Given the description of an element on the screen output the (x, y) to click on. 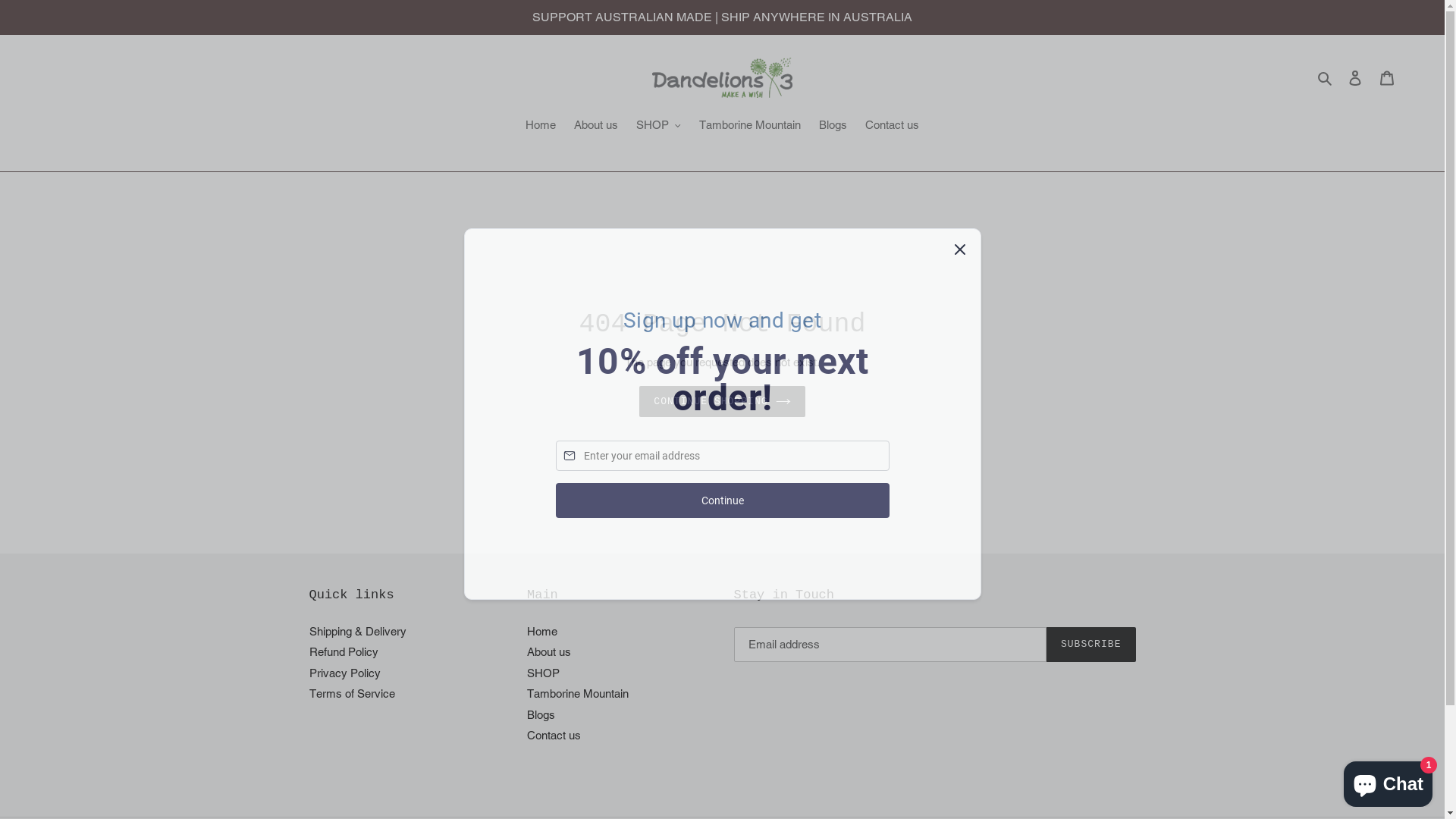
SHOP Element type: text (543, 672)
Blogs Element type: text (832, 126)
Blogs Element type: text (541, 714)
About us Element type: text (595, 126)
Terms of Service Element type: text (352, 693)
Privacy Policy Element type: text (344, 672)
Refund Policy Element type: text (343, 651)
Log in Element type: text (1355, 77)
Shipping & Delivery Element type: text (357, 630)
Tamborine Mountain Element type: text (577, 693)
About us Element type: text (549, 651)
Home Element type: text (540, 126)
SUBSCRIBE Element type: text (1090, 644)
Search Element type: text (1325, 77)
Cart Element type: text (1386, 77)
Contact us Element type: text (553, 734)
Shopify online store chat Element type: hover (1388, 780)
CONTINUE SHOPPING Element type: text (721, 401)
Tamborine Mountain Element type: text (749, 126)
Contact us Element type: text (891, 126)
Home Element type: text (542, 630)
SHOP Element type: text (658, 126)
